Given the description of an element on the screen output the (x, y) to click on. 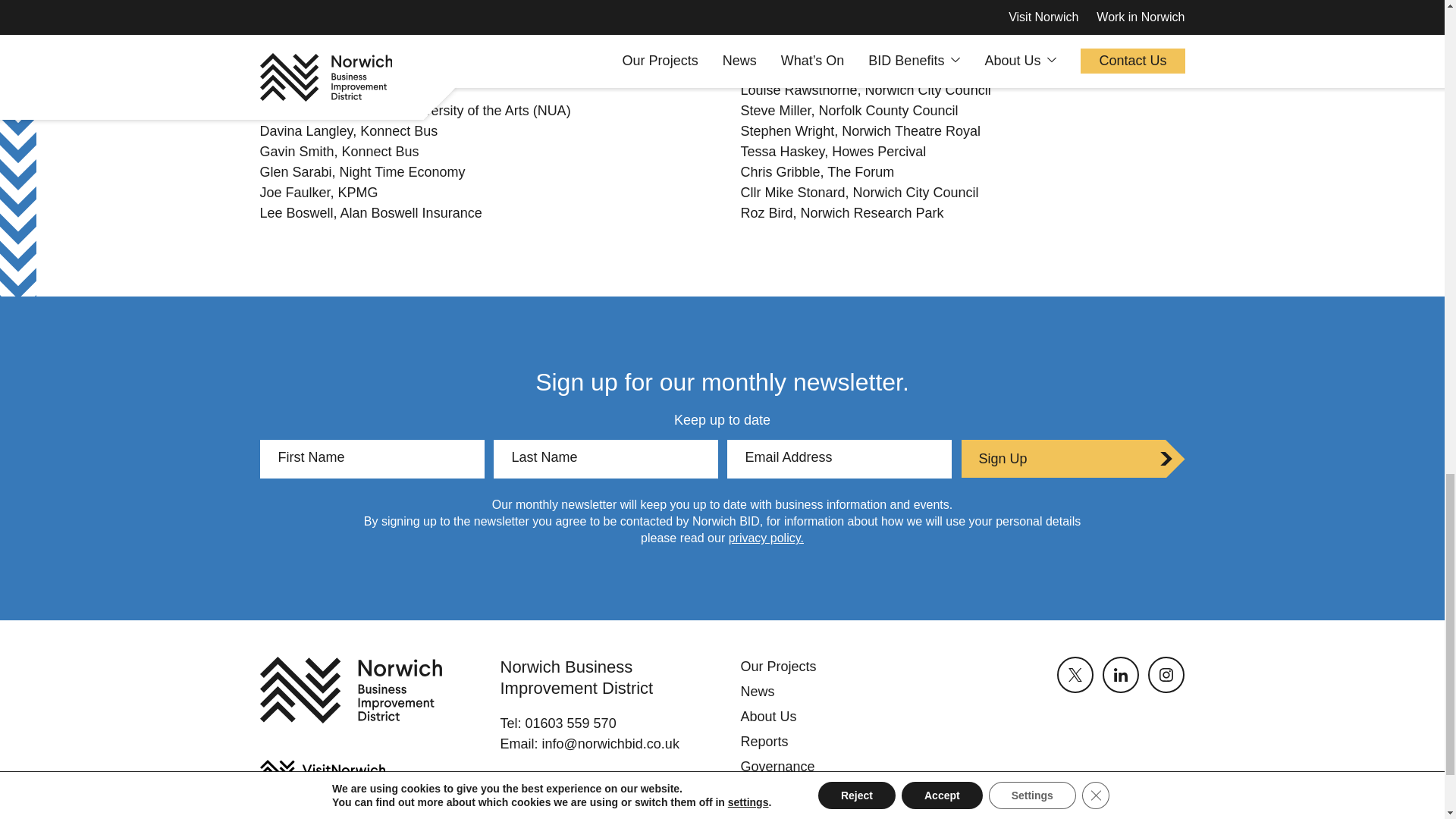
Reports (763, 741)
Our Projects (777, 666)
privacy policy. (766, 537)
01603 559 570 (570, 723)
News (756, 691)
About Us (767, 716)
Sign Up (1072, 458)
Governance (776, 766)
